Given the description of an element on the screen output the (x, y) to click on. 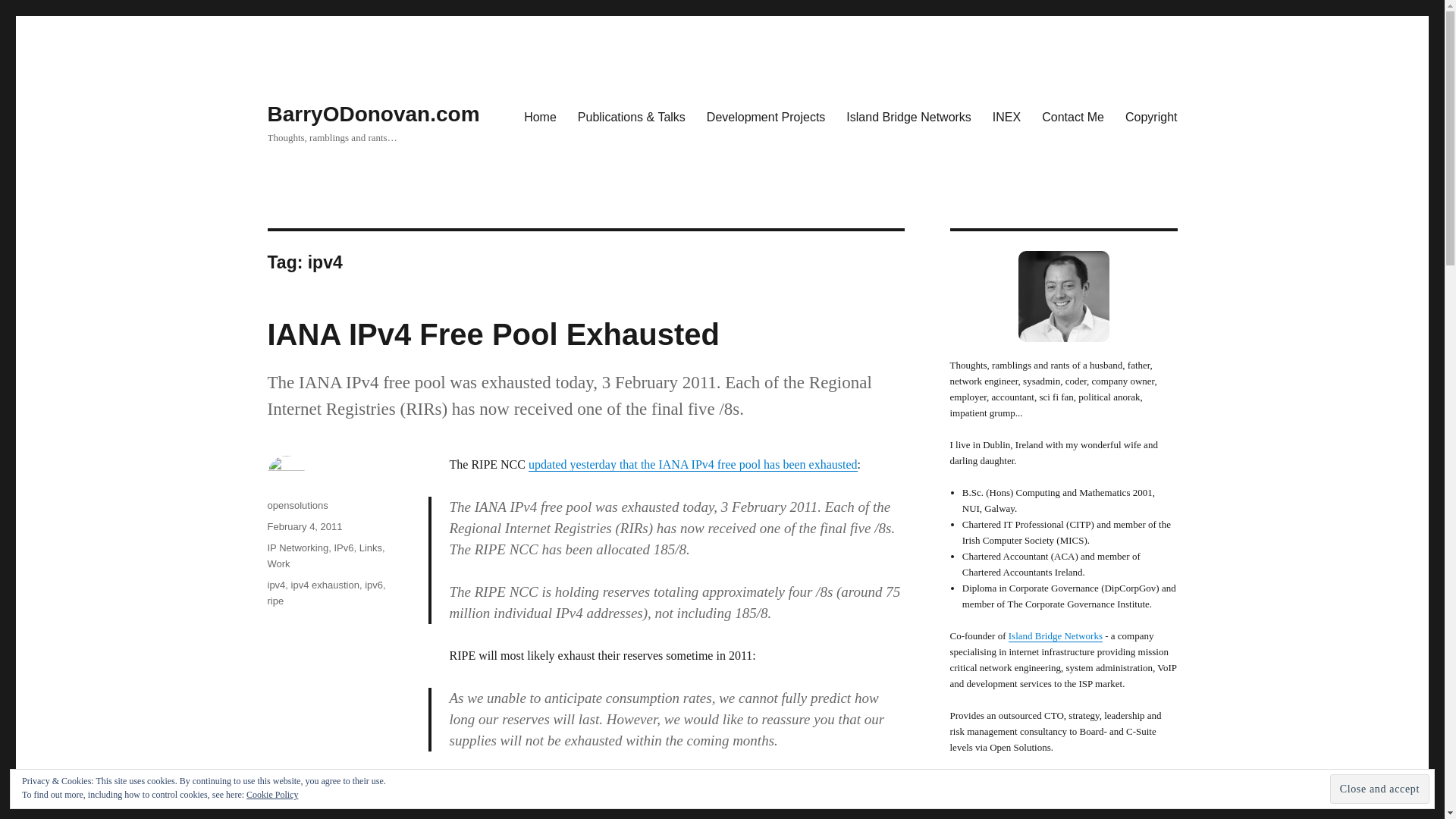
INEX (1046, 794)
Island Bridge Networks (908, 116)
Work (277, 563)
IANA IPv4 Free Pool Exhausted (492, 334)
Contact Me (1072, 116)
Click to email a link to a friend (521, 817)
February 4, 2011 (304, 526)
Island Bridge Networks (1055, 635)
Close and accept (1379, 788)
